Given the description of an element on the screen output the (x, y) to click on. 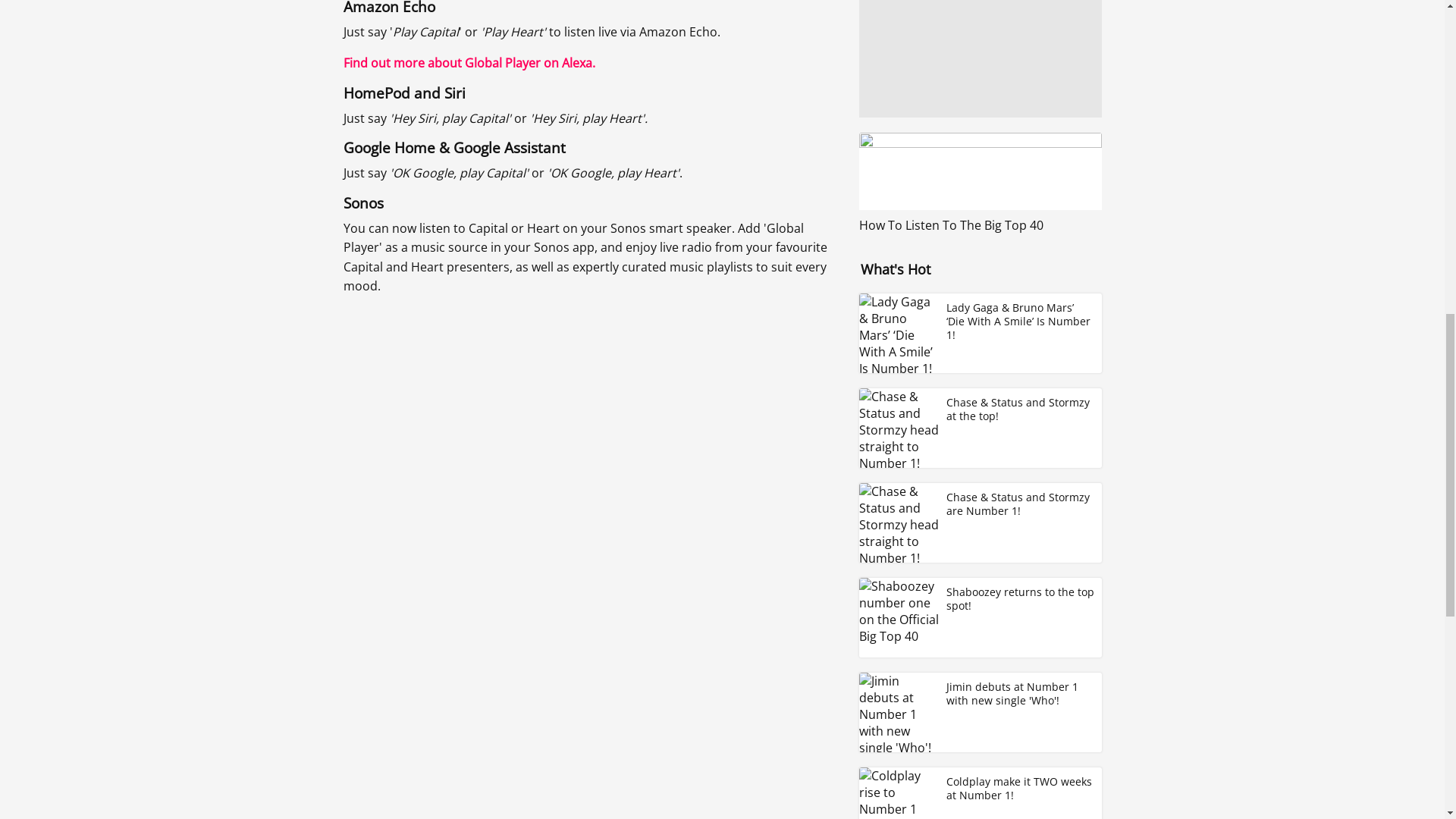
Shaboozey returns to the top spot! (979, 617)
How To Listen To The Big Top 40 (979, 182)
Find out more about Global Player on Alexa. (468, 62)
Coldplay make it TWO weeks at Number 1! (979, 793)
Jimin debuts at Number 1 with new single 'Who'! (979, 712)
